Given the description of an element on the screen output the (x, y) to click on. 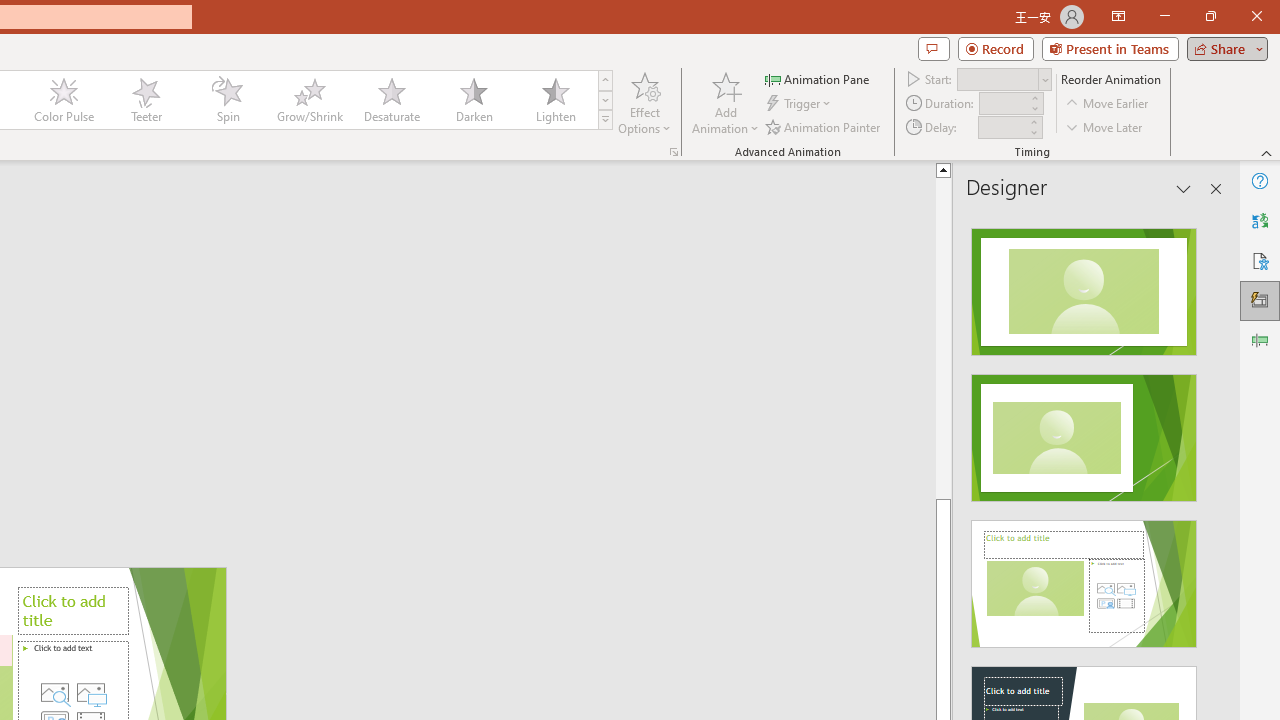
Designer (1260, 300)
Minimize (1164, 16)
Animation Duration (1003, 103)
Page up (1011, 337)
Animation Pane (1260, 340)
Close (1256, 16)
Comments (933, 48)
Ribbon Display Options (1118, 16)
Recommended Design: Design Idea (1083, 286)
Animation Pane (818, 78)
Pictures (91, 692)
Present in Teams (1109, 48)
Restore Down (1210, 16)
Line up (1011, 169)
Open (1044, 79)
